Given the description of an element on the screen output the (x, y) to click on. 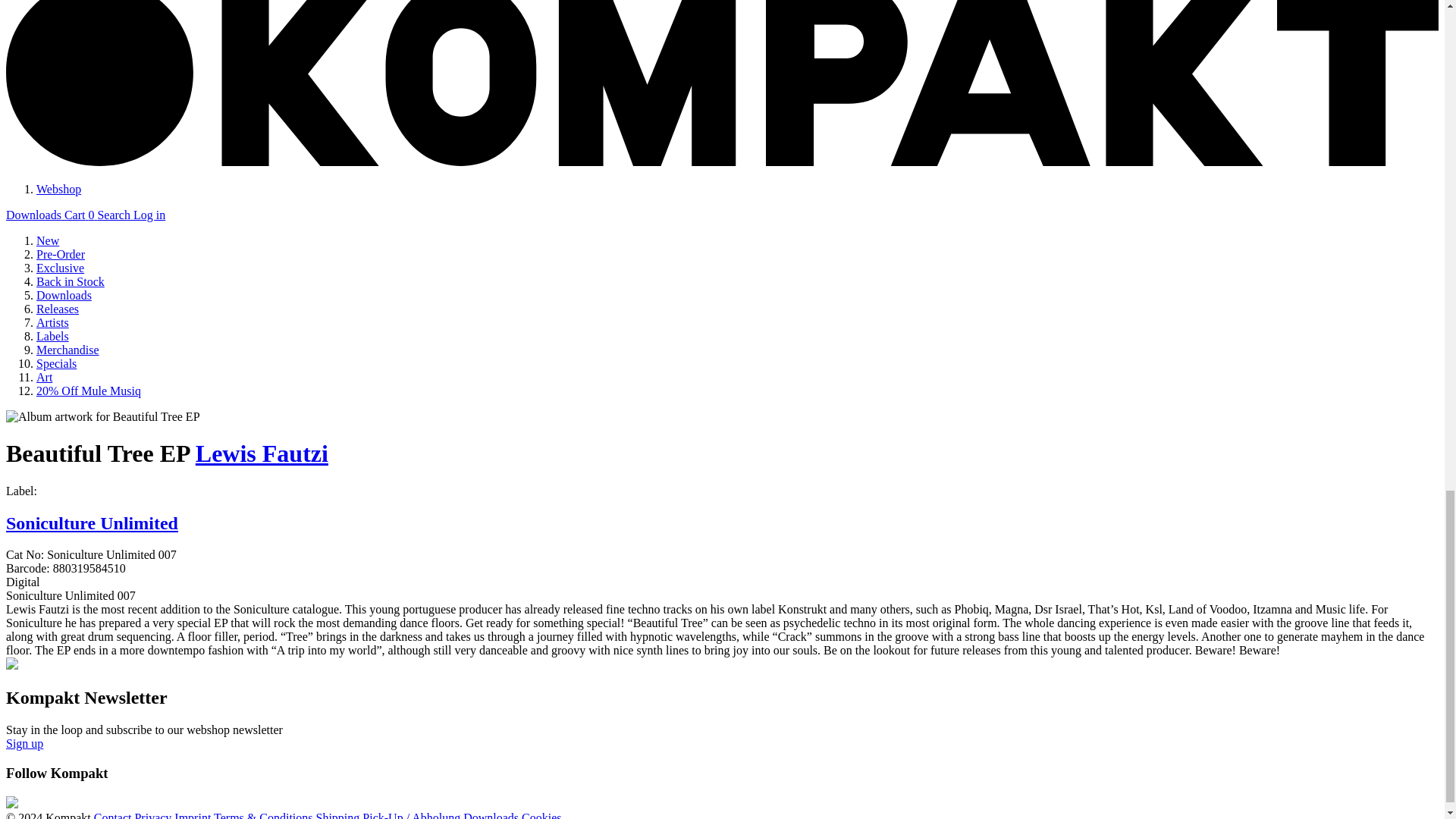
Webshop (58, 188)
Back in Stock (70, 281)
Search (115, 214)
Pre-Order (60, 254)
Labels (52, 336)
Art (44, 377)
Log in (149, 214)
Soniculture Unlimited (91, 523)
Log in (149, 214)
Merchandise (67, 349)
Exclusive (60, 267)
Artists (52, 322)
Releases (57, 308)
Lewis Fautzi (262, 452)
Downloads (63, 295)
